Given the description of an element on the screen output the (x, y) to click on. 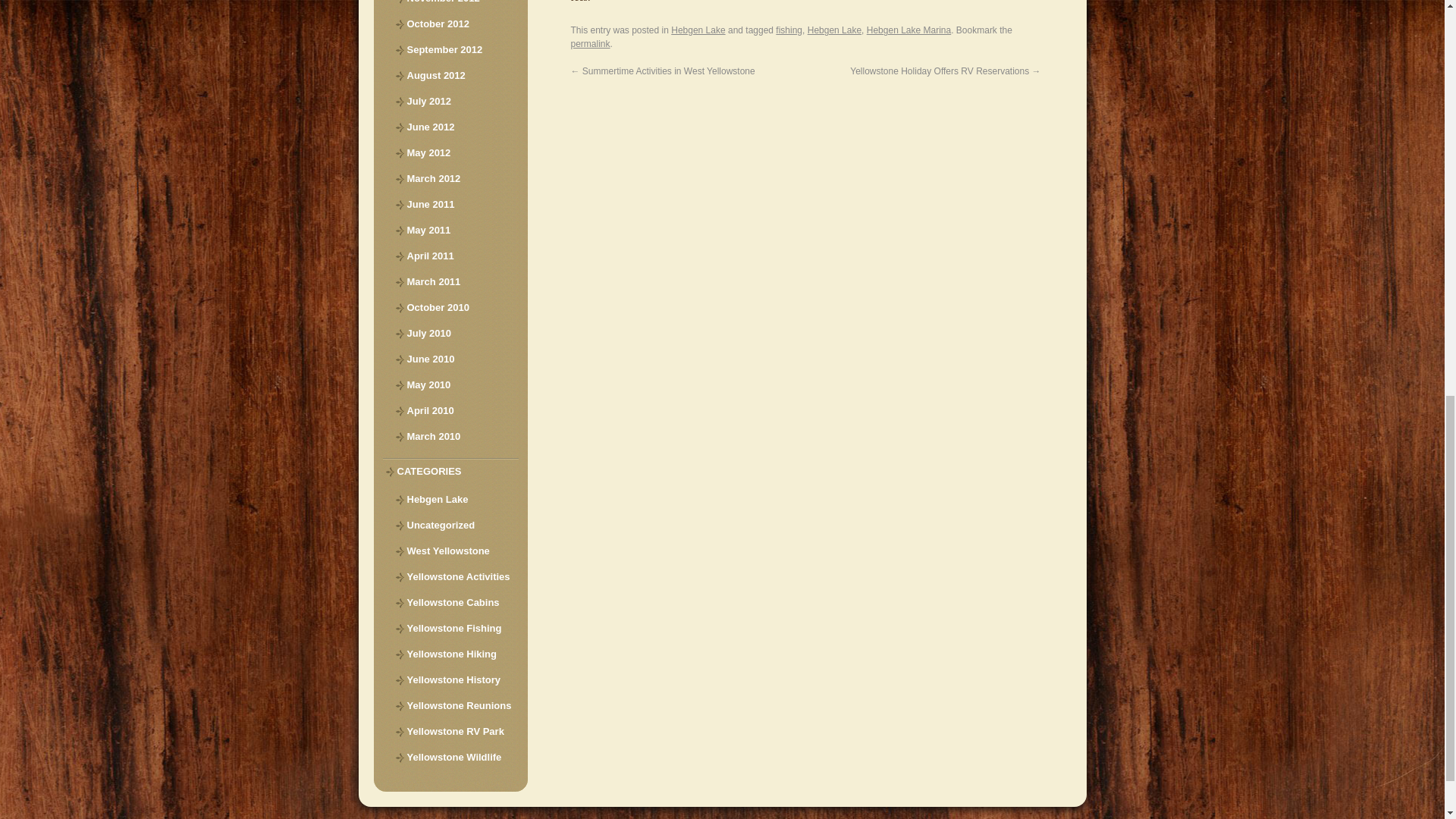
permalink (590, 43)
Hebgen Lake (698, 30)
Hebgen Lake Marina (908, 30)
Permalink to Fishing on Hebgen Lake (590, 43)
fishing (789, 30)
Hebgen Lake (834, 30)
